Given the description of an element on the screen output the (x, y) to click on. 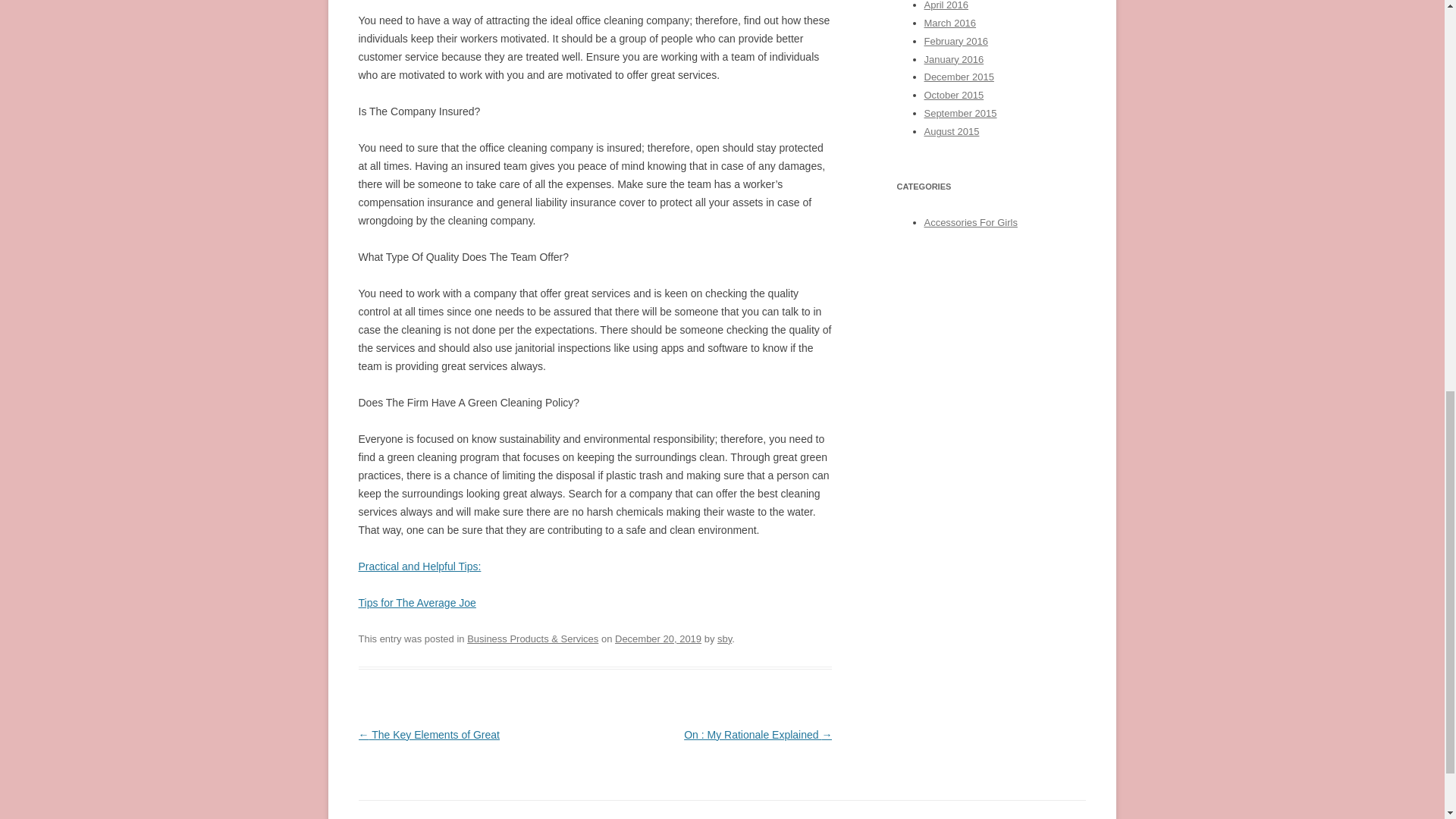
December 20, 2019 (657, 638)
8:03 pm (657, 638)
December 2015 (957, 76)
September 2015 (959, 112)
January 2016 (953, 58)
April 2016 (945, 5)
August 2015 (950, 131)
Tips for The Average Joe (417, 603)
March 2016 (949, 22)
Practical and Helpful Tips: (419, 566)
Accessories For Girls (969, 222)
October 2015 (953, 94)
View all posts by sby (724, 638)
sby (724, 638)
February 2016 (955, 41)
